Given the description of an element on the screen output the (x, y) to click on. 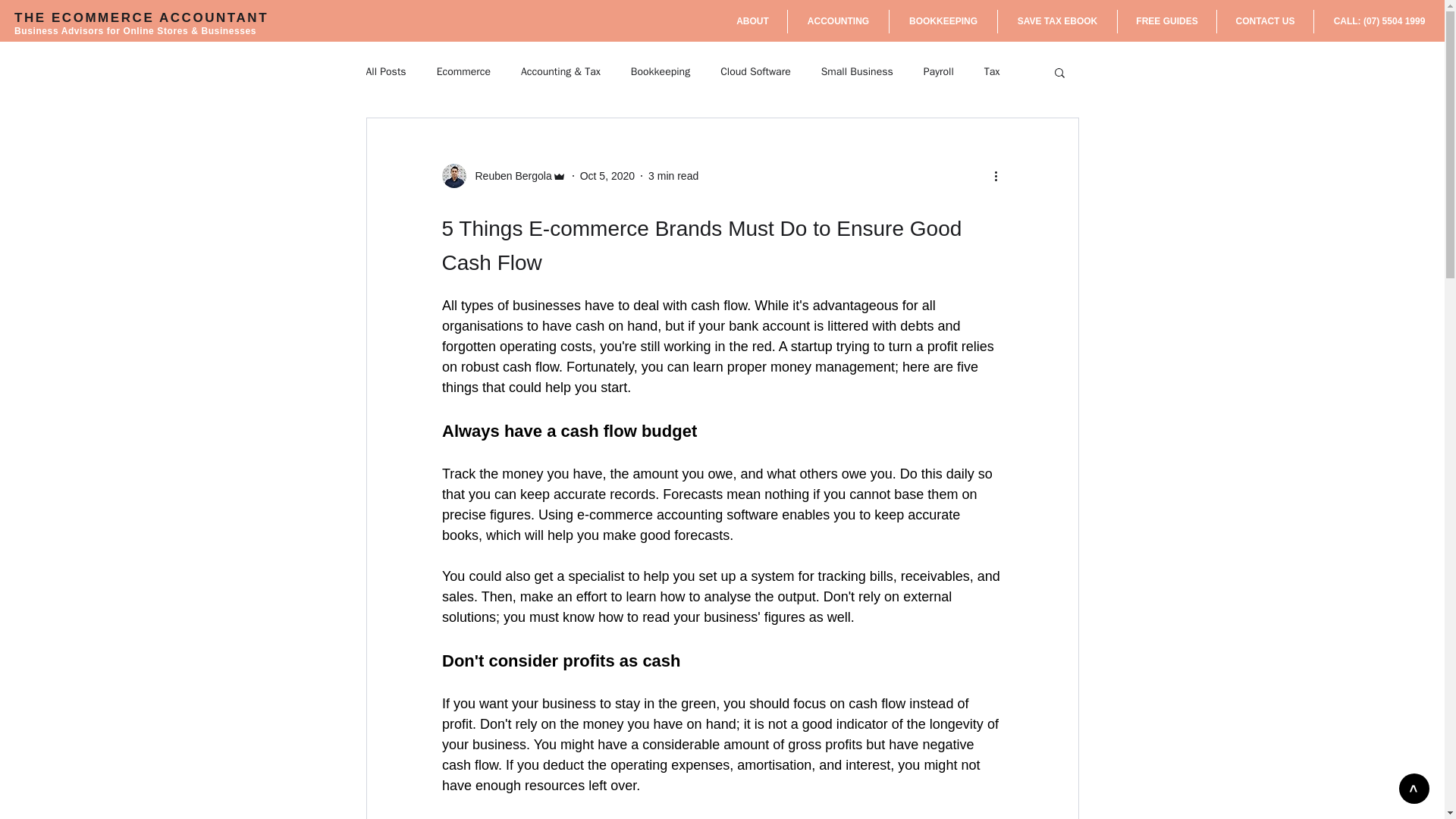
FREE GUIDES (1166, 21)
3 min read (672, 175)
Ecommerce (463, 71)
Oct 5, 2020 (606, 175)
BOOKKEEPING (943, 21)
SAVE TAX EBOOK (1056, 21)
Payroll (938, 71)
Tax (992, 71)
Reuben Bergola (508, 176)
Small Business (857, 71)
CONTACT US (1265, 21)
All Posts (385, 71)
Bookkeeping (660, 71)
ACCOUNTING (837, 21)
ABOUT (752, 21)
